Given the description of an element on the screen output the (x, y) to click on. 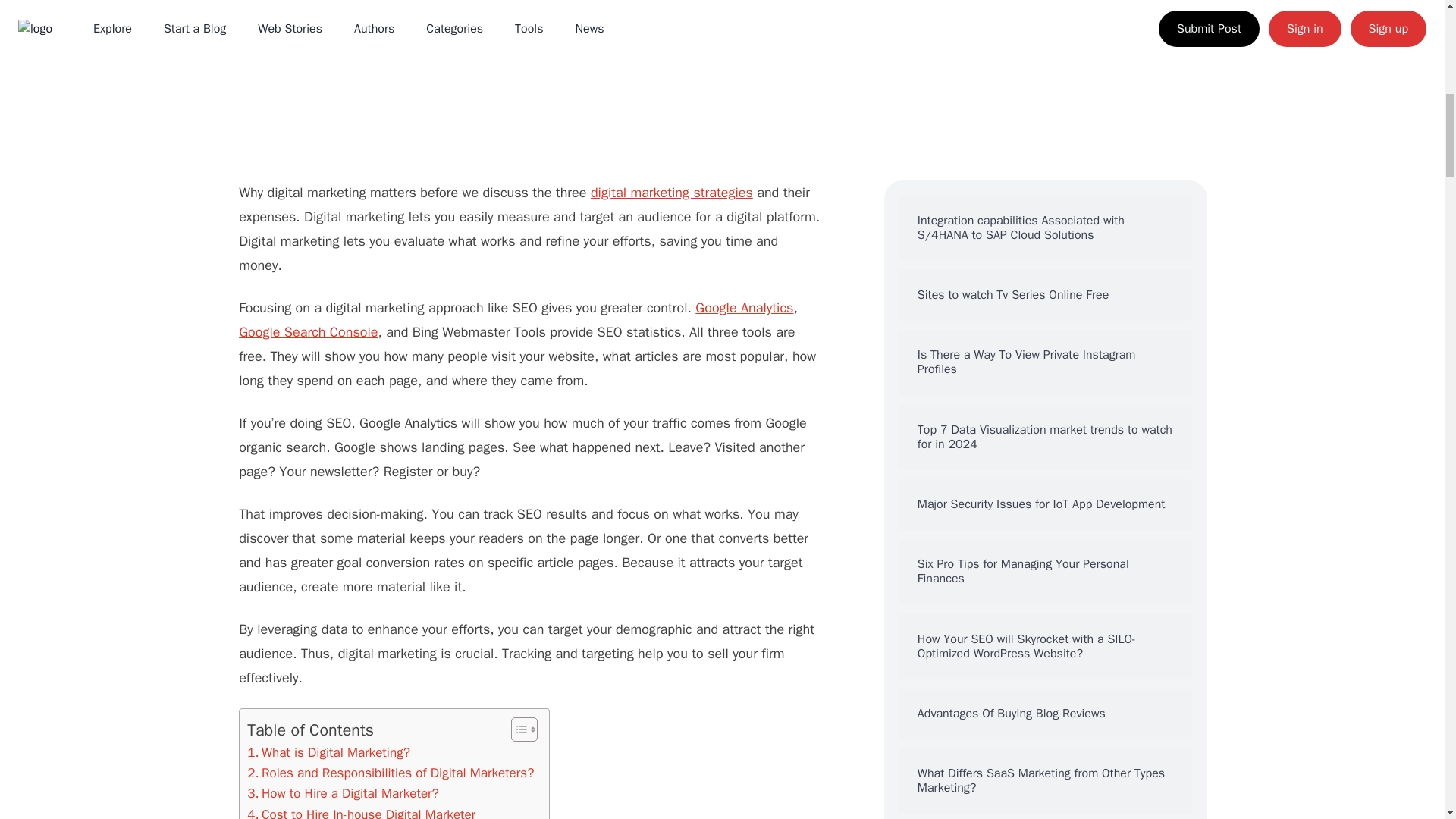
Roles and Responsibilities of Digital Marketers? (390, 772)
What is Digital Marketing? (328, 752)
How to Hire a Digital Marketer? (343, 792)
Google Analytics (744, 307)
Cost to Hire In-house Digital Marketer (361, 811)
Cost to Hire In-house Digital Marketer (361, 811)
digital marketing strategies (671, 192)
How to Hire a Digital Marketer? (343, 792)
Roles and Responsibilities of Digital Marketers? (390, 772)
Google Search Console (307, 331)
